Given the description of an element on the screen output the (x, y) to click on. 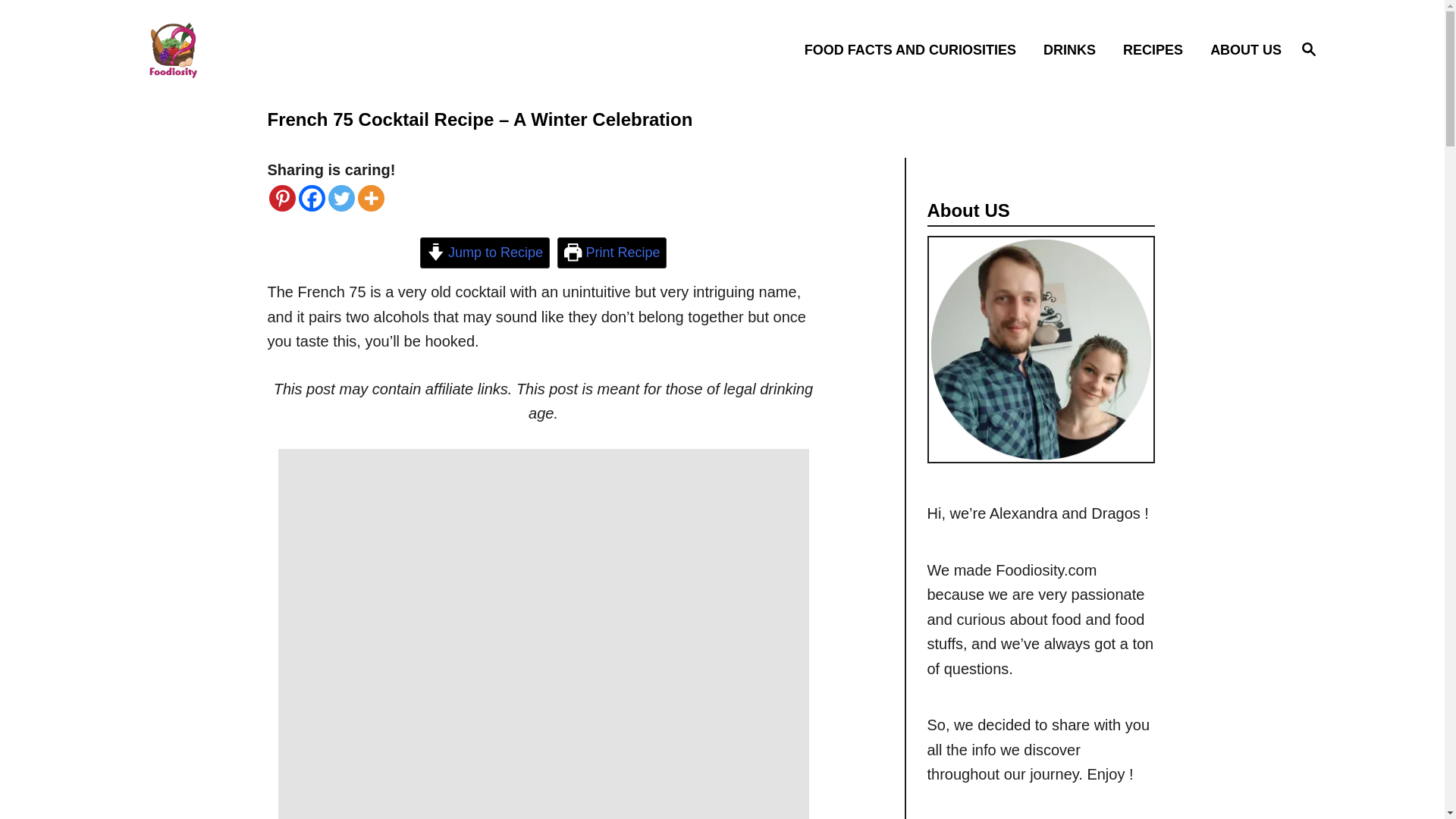
ABOUT US (1241, 49)
Magnifying Glass (1308, 48)
Twitter (340, 198)
Foodiosity (285, 49)
Facebook (311, 198)
More (371, 198)
DRINKS (1073, 49)
Jump to Recipe (485, 252)
RECIPES (1308, 49)
